Given the description of an element on the screen output the (x, y) to click on. 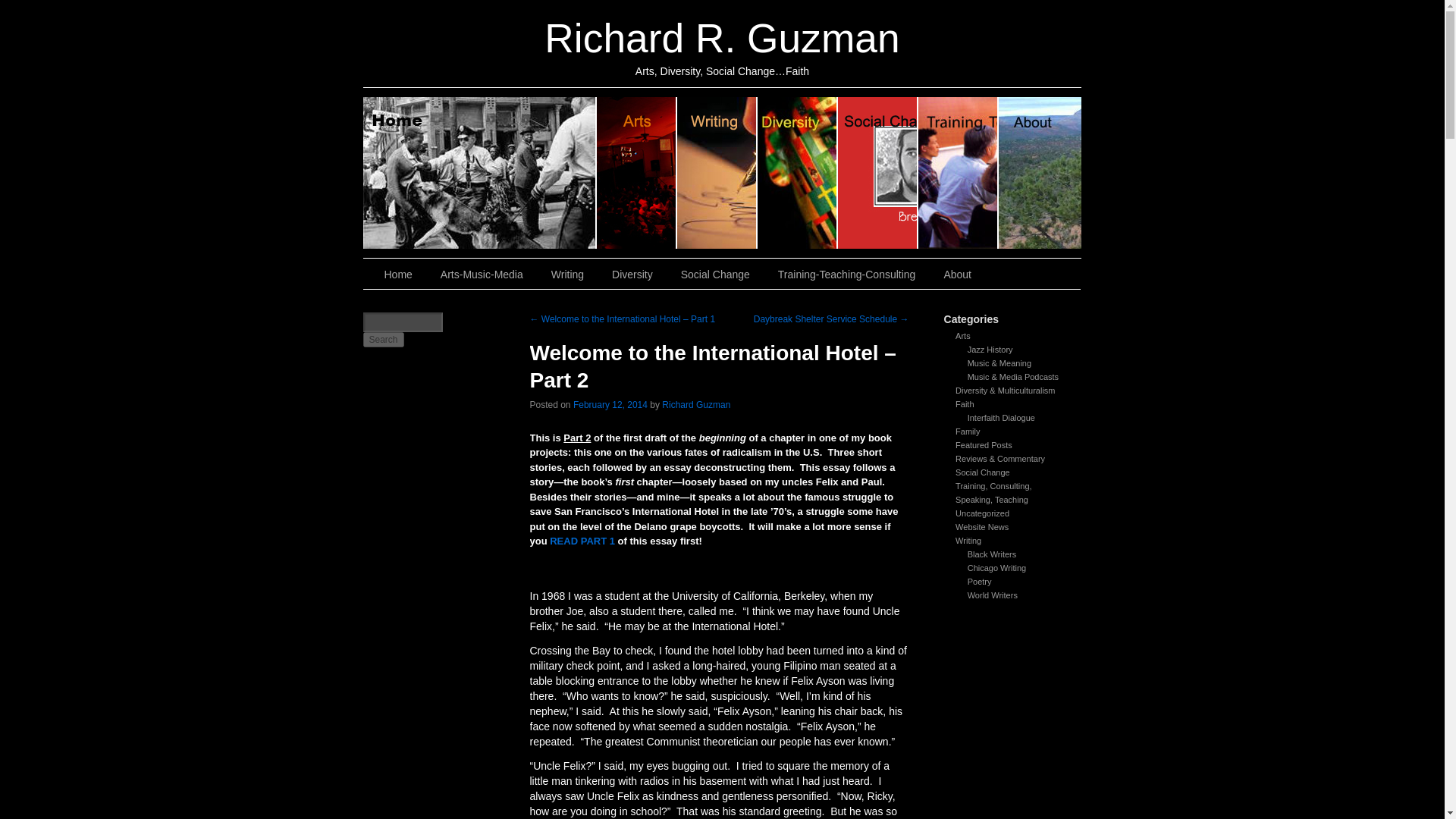
Training-Teaching-Consulting (848, 274)
Social Change (716, 274)
Arts (963, 335)
Diversity (633, 274)
Jazz History (990, 348)
Home (478, 172)
View all posts by Richard Guzman (696, 404)
Teaching, Consulting (848, 274)
Search (382, 339)
welcome to the International Hotel - Part 1 (582, 541)
About (959, 274)
Home (399, 274)
Richard R. Guzman (721, 37)
Writing (568, 274)
2:03 pm (610, 404)
